Given the description of an element on the screen output the (x, y) to click on. 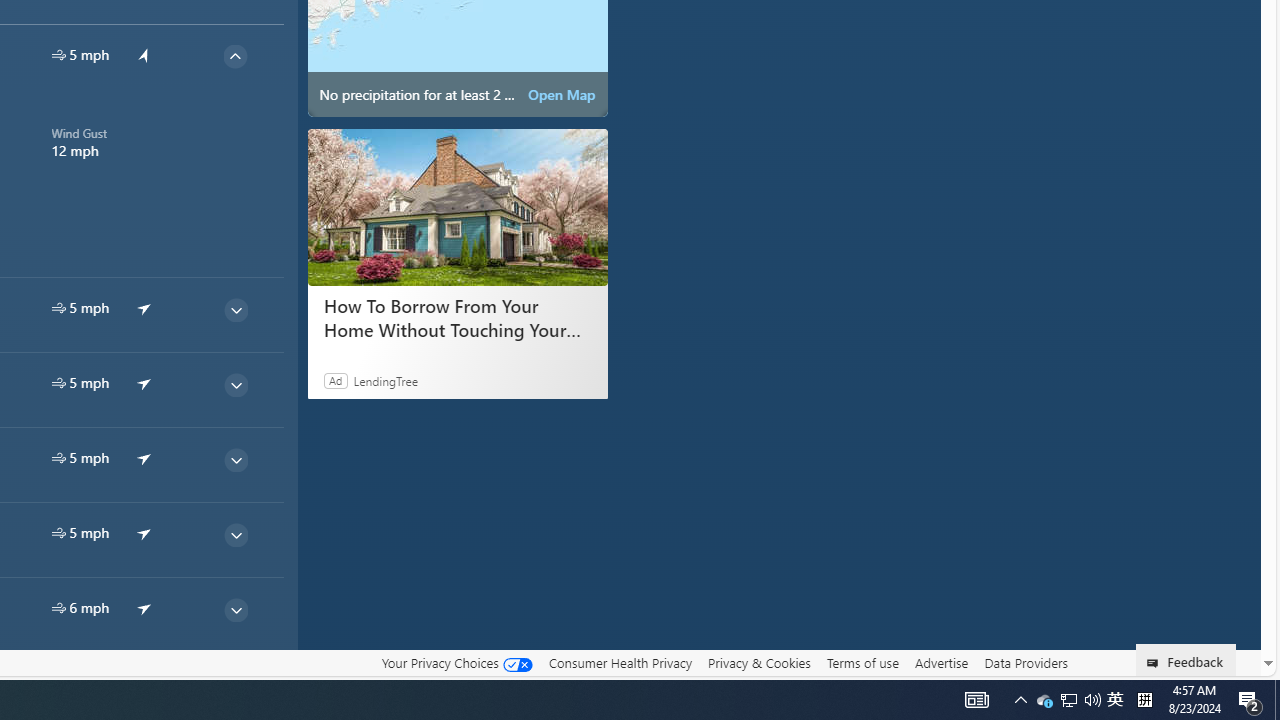
hourlyTable/wind (58, 607)
common/thinArrow (235, 684)
Data Providers (1025, 662)
Data Providers (1025, 663)
common/arrow (144, 682)
Terms of use (861, 663)
Your Privacy Choices (456, 663)
Open Map (561, 94)
Your Privacy Choices (456, 662)
Class: feedback_link_icon-DS-EntryPoint1-1 (1156, 663)
Privacy & Cookies (759, 662)
